Given the description of an element on the screen output the (x, y) to click on. 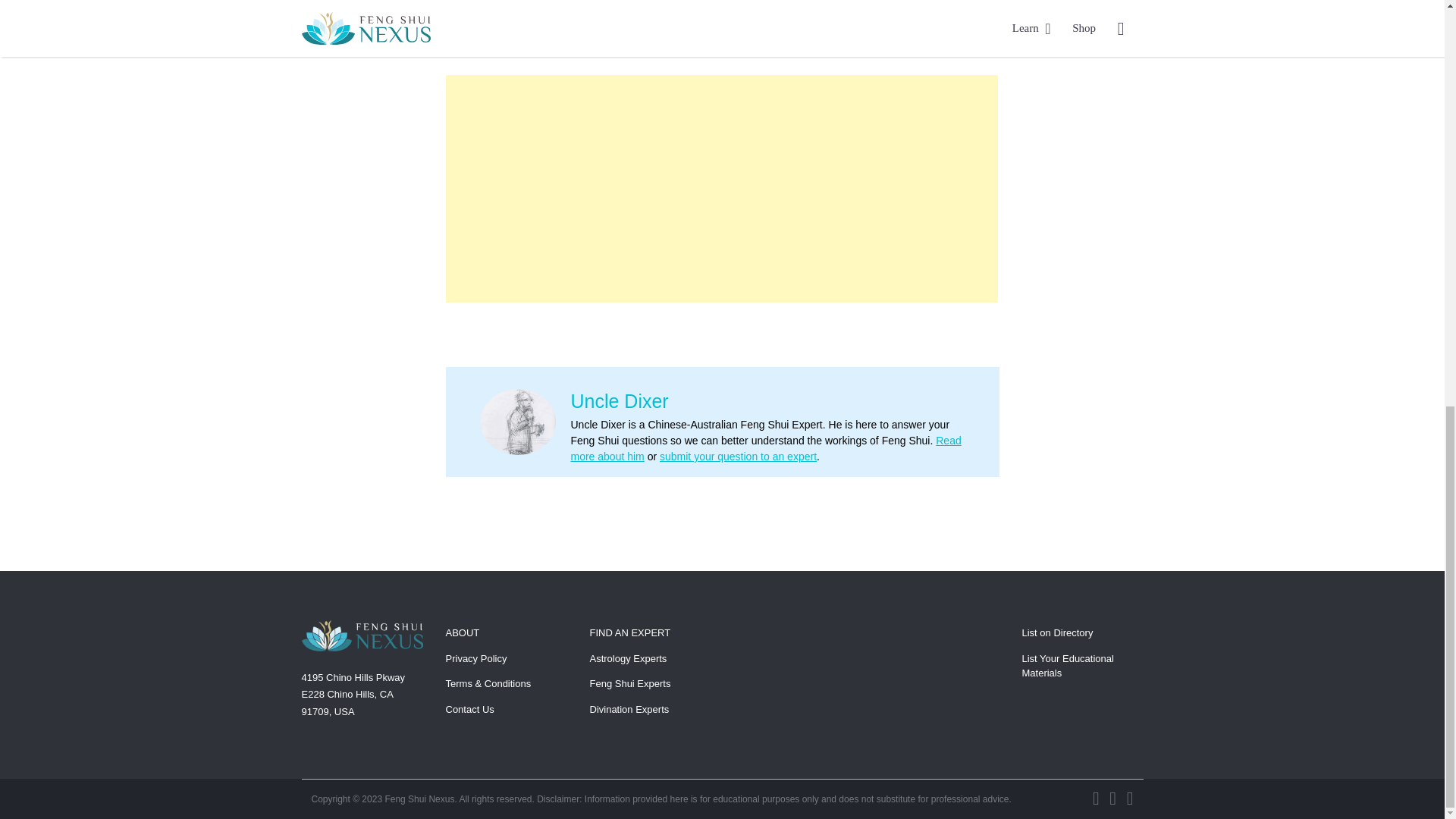
Read more about him (765, 448)
submit your question to an expert (737, 456)
ABOUT (462, 632)
Privacy Policy (475, 658)
Uncle Dixer (619, 400)
Contact Us (470, 708)
